Given the description of an element on the screen output the (x, y) to click on. 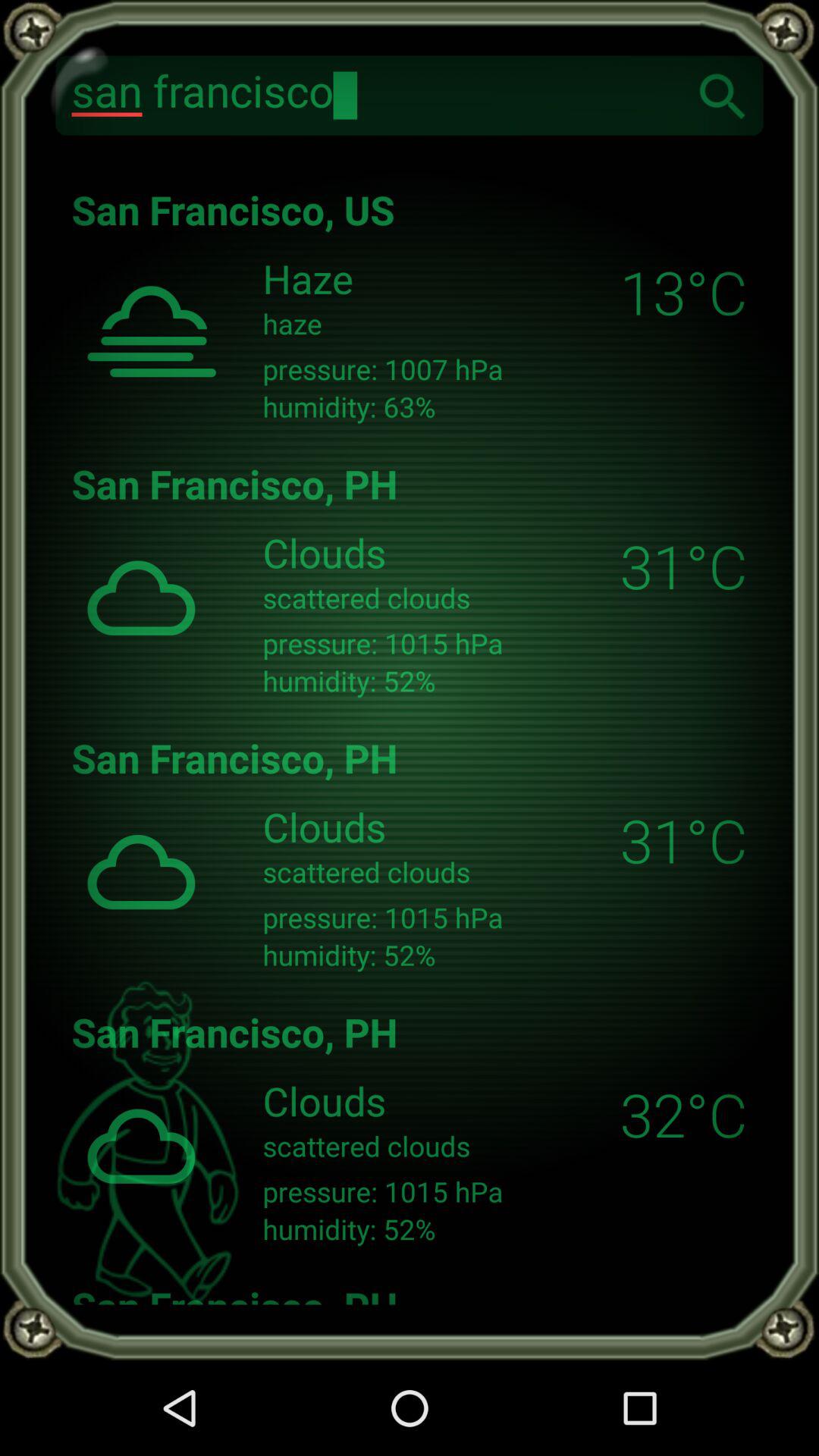
search the place (723, 95)
